Given the description of an element on the screen output the (x, y) to click on. 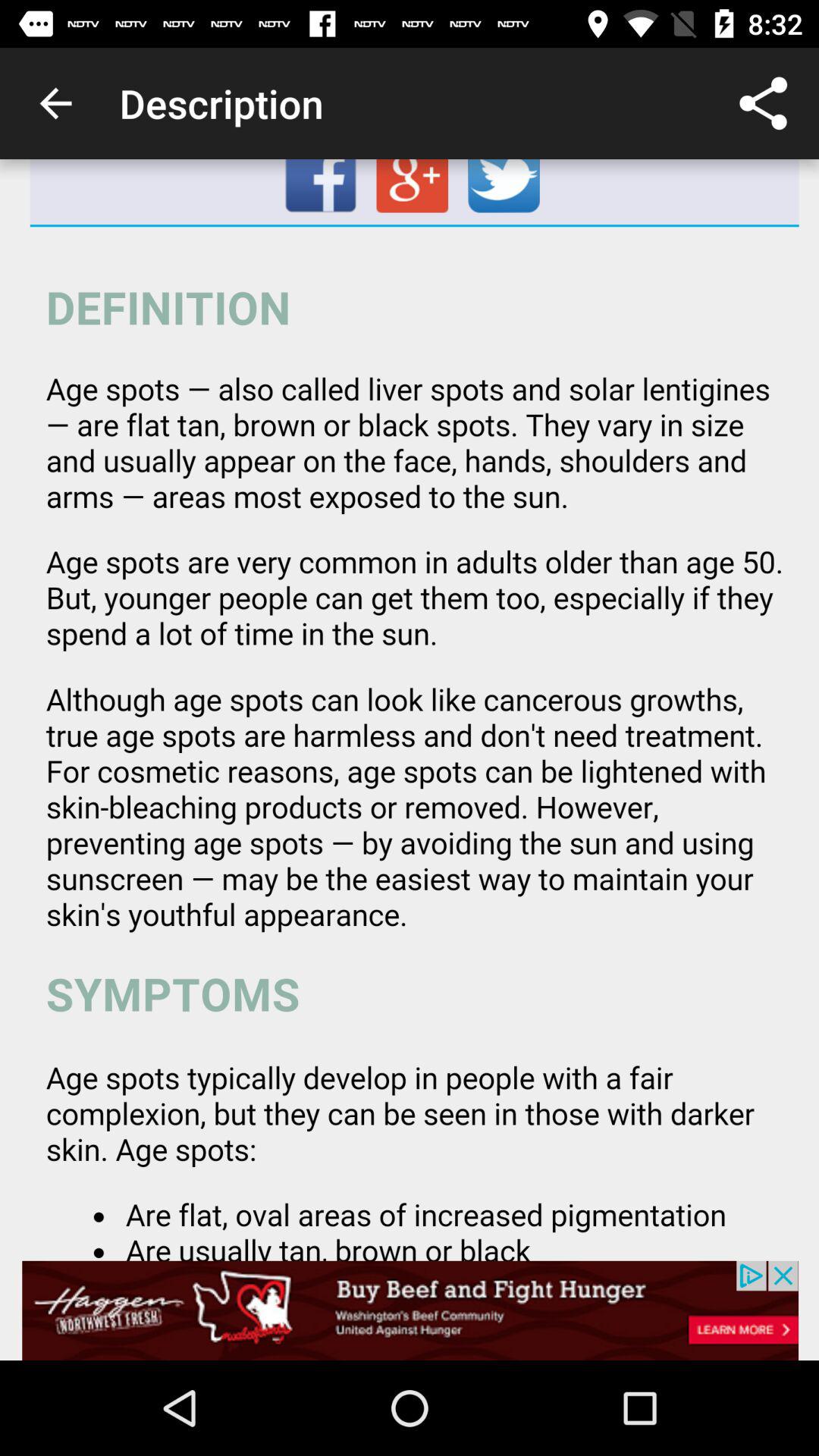
google (414, 191)
